Given the description of an element on the screen output the (x, y) to click on. 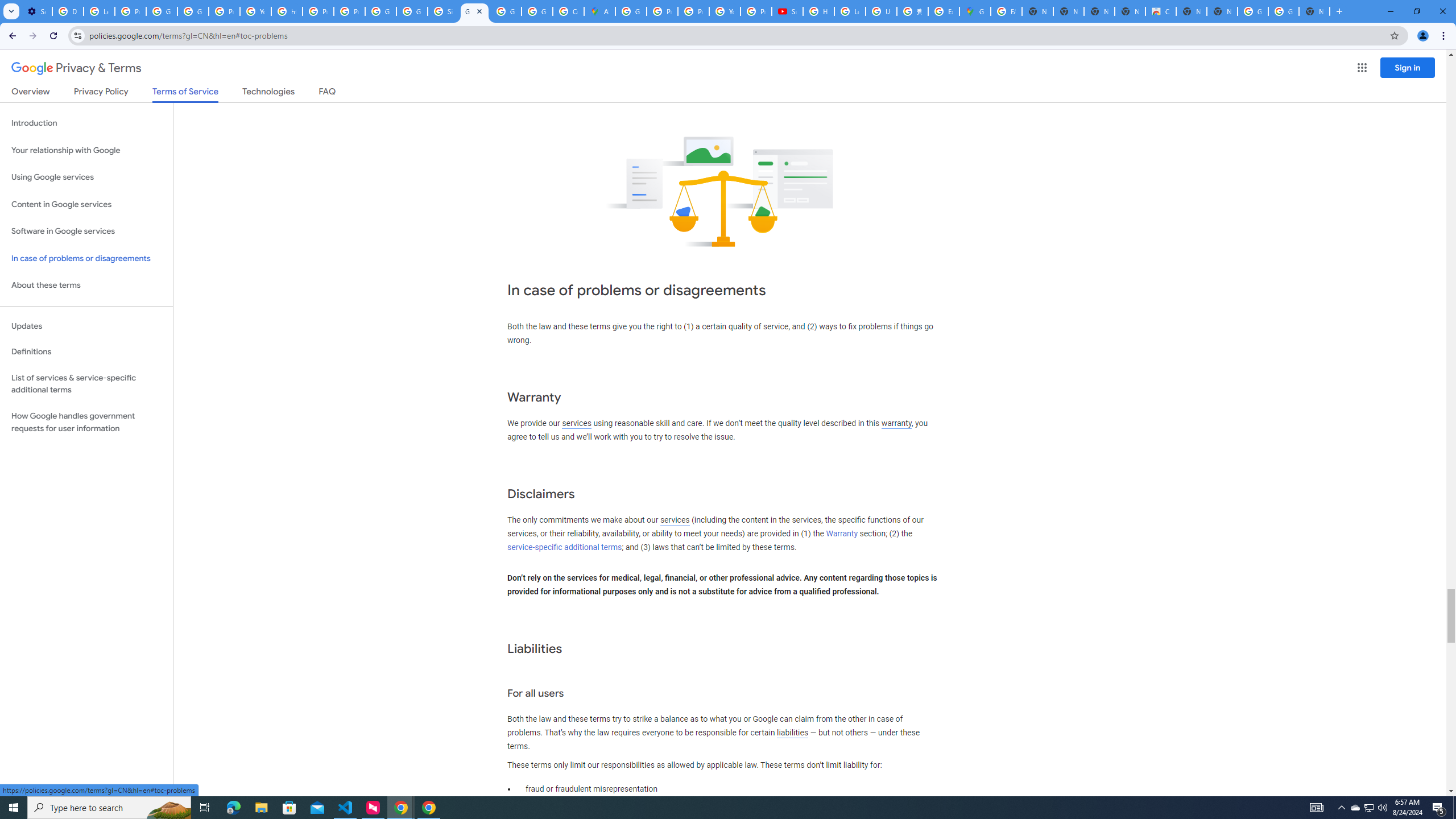
In case of problems or disagreements (86, 258)
Google Images (1283, 11)
How Google handles government requests for user information (86, 422)
Your relationship with Google (86, 150)
Forward (32, 35)
Google Account Help (192, 11)
You (1422, 35)
Explore new street-level details - Google Maps Help (943, 11)
Sign in - Google Accounts (443, 11)
Search tabs (10, 11)
List of services & service-specific additional terms (86, 383)
Updates (86, 325)
Google Images (1252, 11)
